Given the description of an element on the screen output the (x, y) to click on. 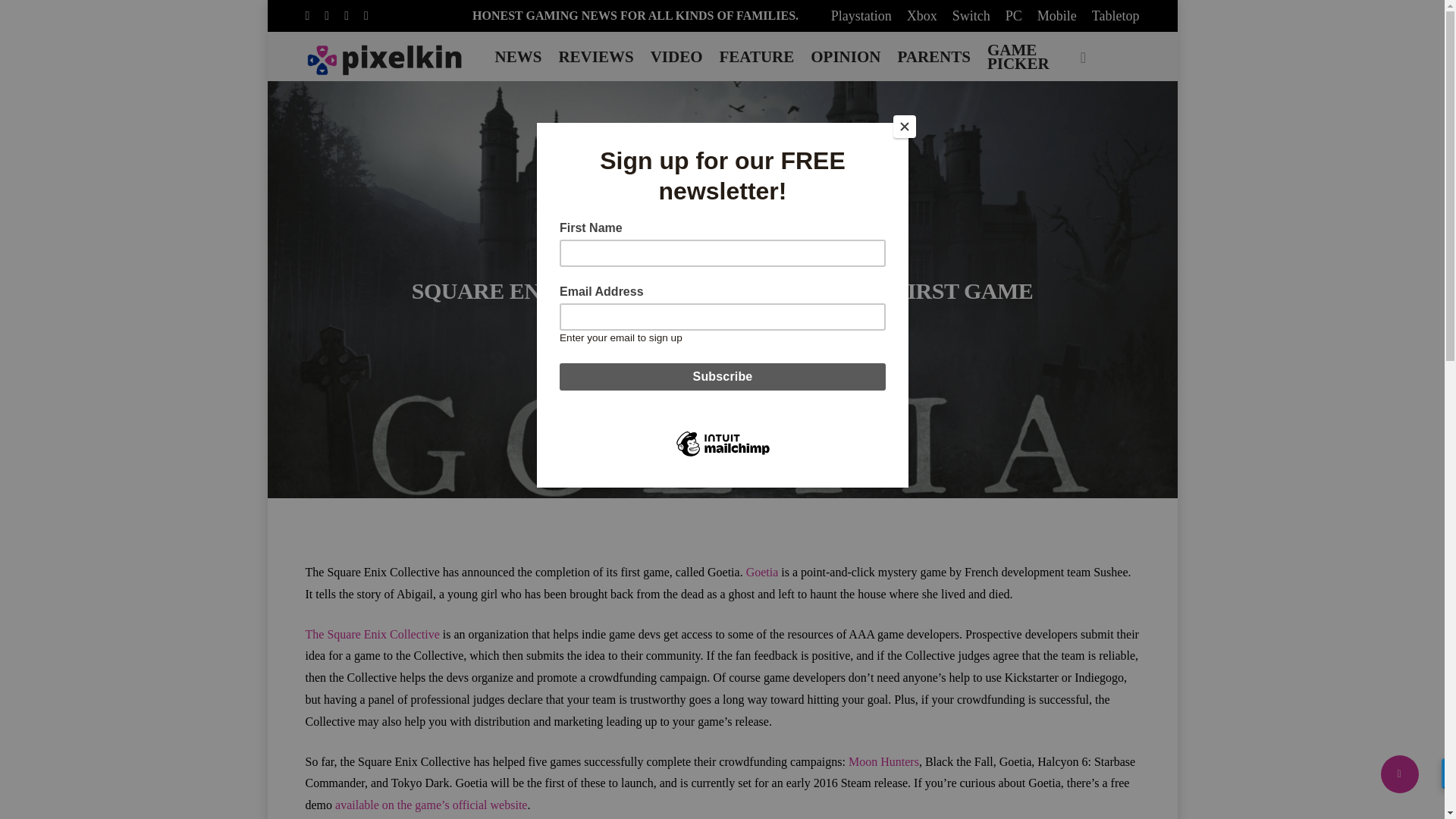
NEWS (519, 56)
PARENTS (933, 56)
REVIEWS (595, 56)
News (721, 253)
No Comments (780, 328)
Tabletop (1116, 15)
Mobile (1056, 15)
Goetia (761, 571)
The Square Enix Collective (371, 634)
Playstation (861, 15)
Switch (971, 15)
Moon Hunters (883, 761)
OPINION (844, 56)
FEATURE (755, 56)
GAME PICKER (1018, 56)
